Given the description of an element on the screen output the (x, y) to click on. 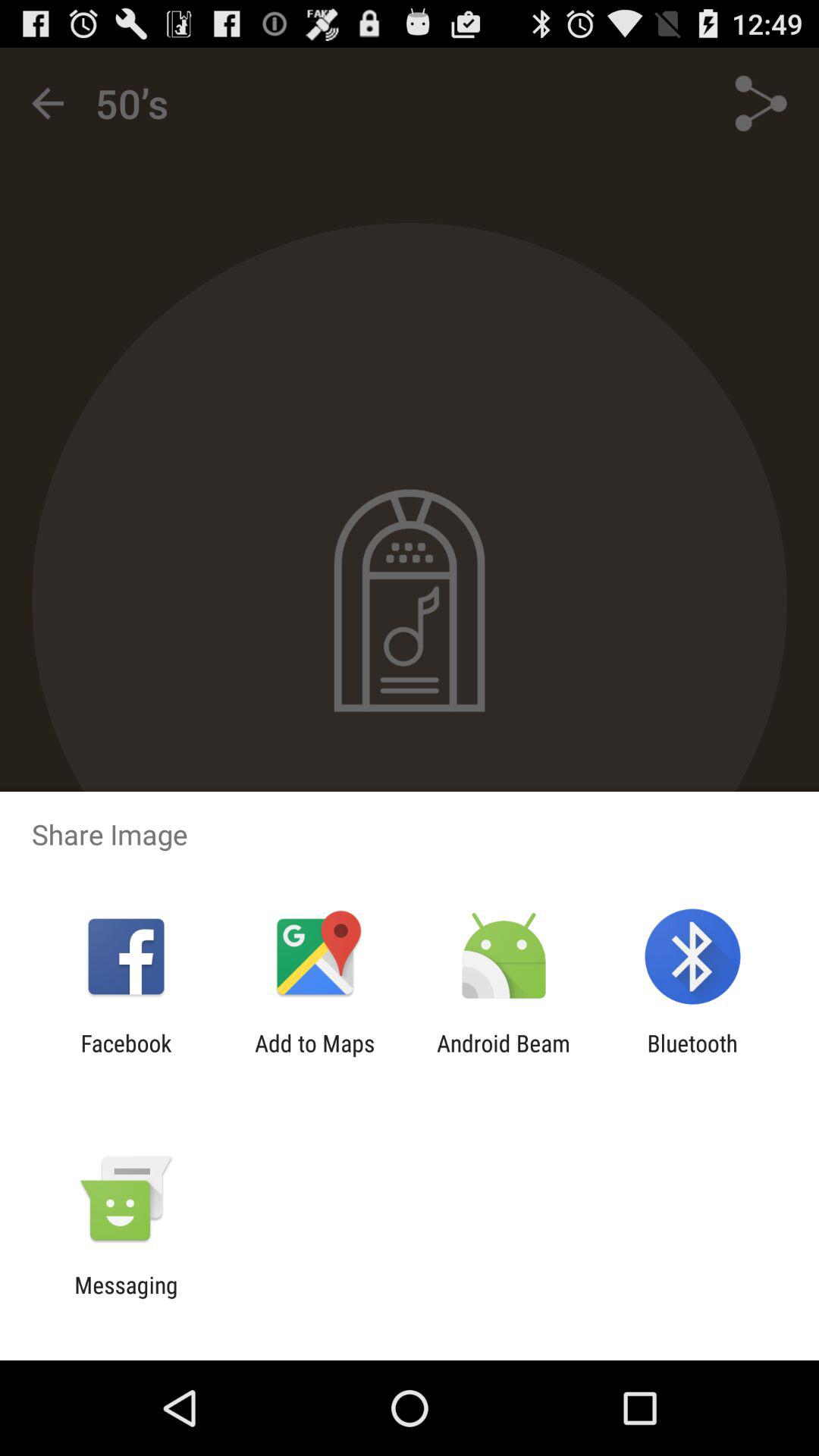
choose bluetooth app (692, 1056)
